Given the description of an element on the screen output the (x, y) to click on. 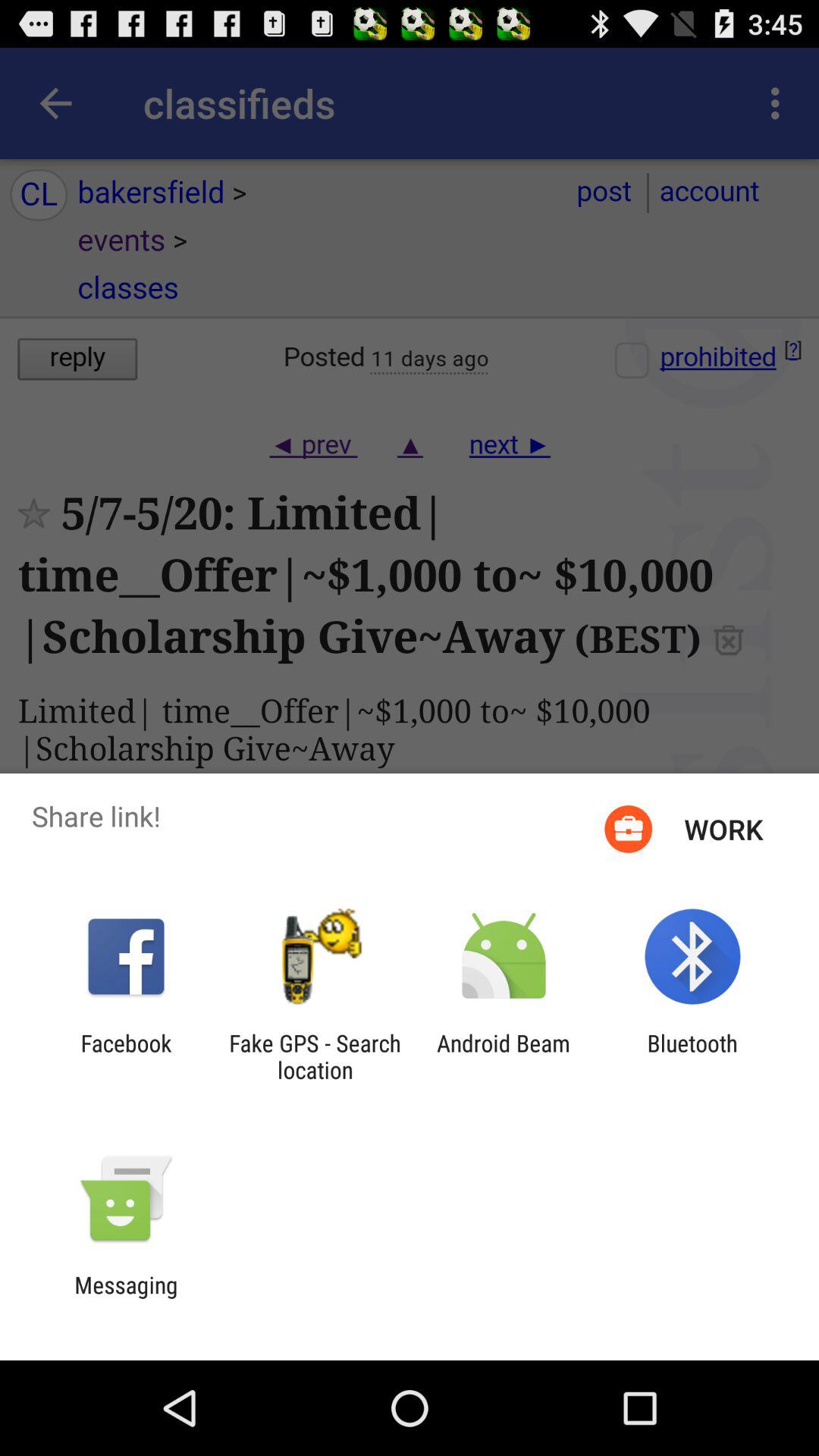
jump until the messaging item (126, 1298)
